Given the description of an element on the screen output the (x, y) to click on. 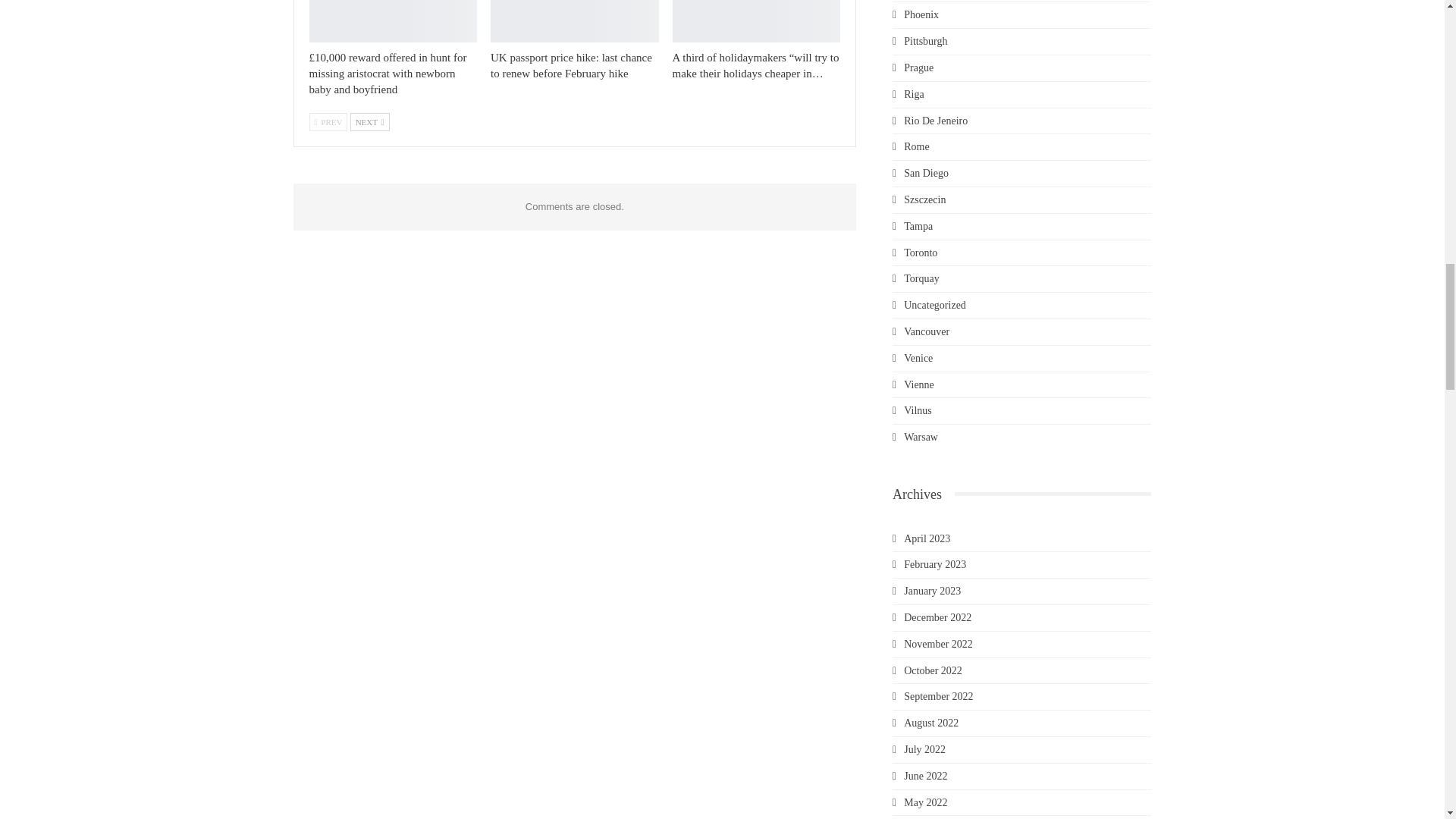
Previous (327, 122)
Next (370, 122)
